Given the description of an element on the screen output the (x, y) to click on. 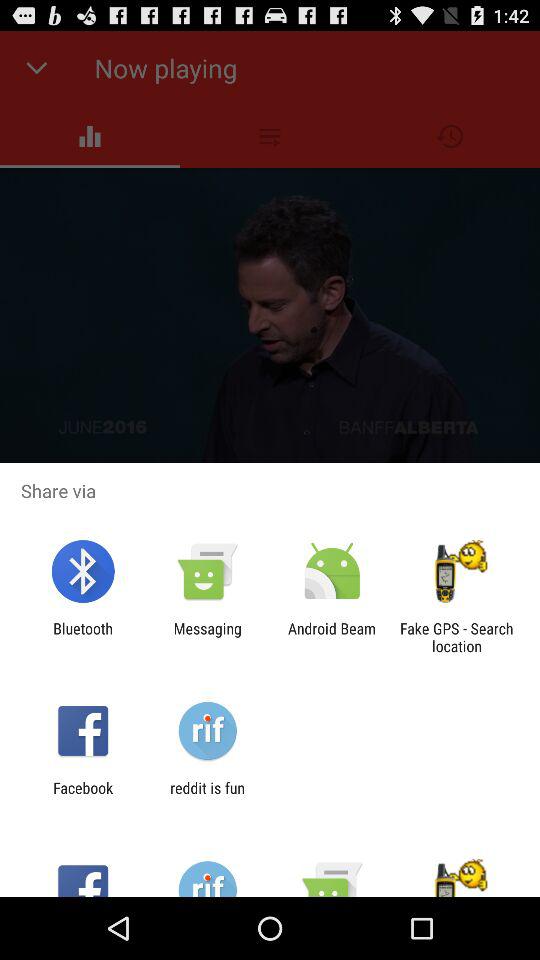
launch android beam icon (332, 637)
